Given the description of an element on the screen output the (x, y) to click on. 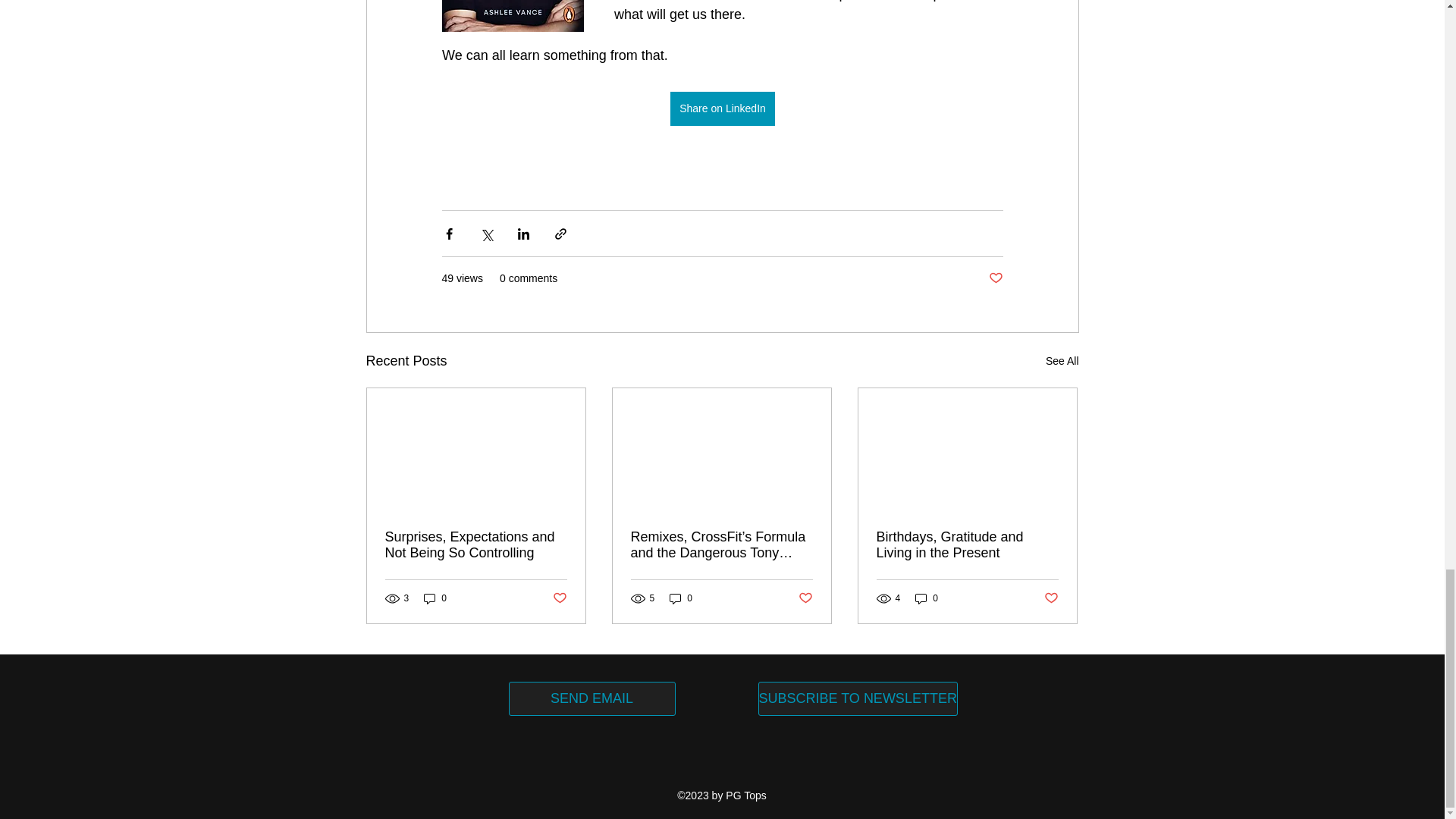
0 (926, 598)
Post not marked as liked (558, 597)
0 (435, 598)
Post not marked as liked (1050, 597)
Birthdays, Gratitude and Living in the Present (967, 545)
SEND EMAIL (591, 698)
Surprises, Expectations and Not Being So Controlling (476, 545)
0 (681, 598)
Share on LinkedIn (721, 108)
Post not marked as liked (804, 597)
See All (1061, 361)
SUBSCRIBE TO NEWSLETTER (858, 698)
Post not marked as liked (995, 278)
